Given the description of an element on the screen output the (x, y) to click on. 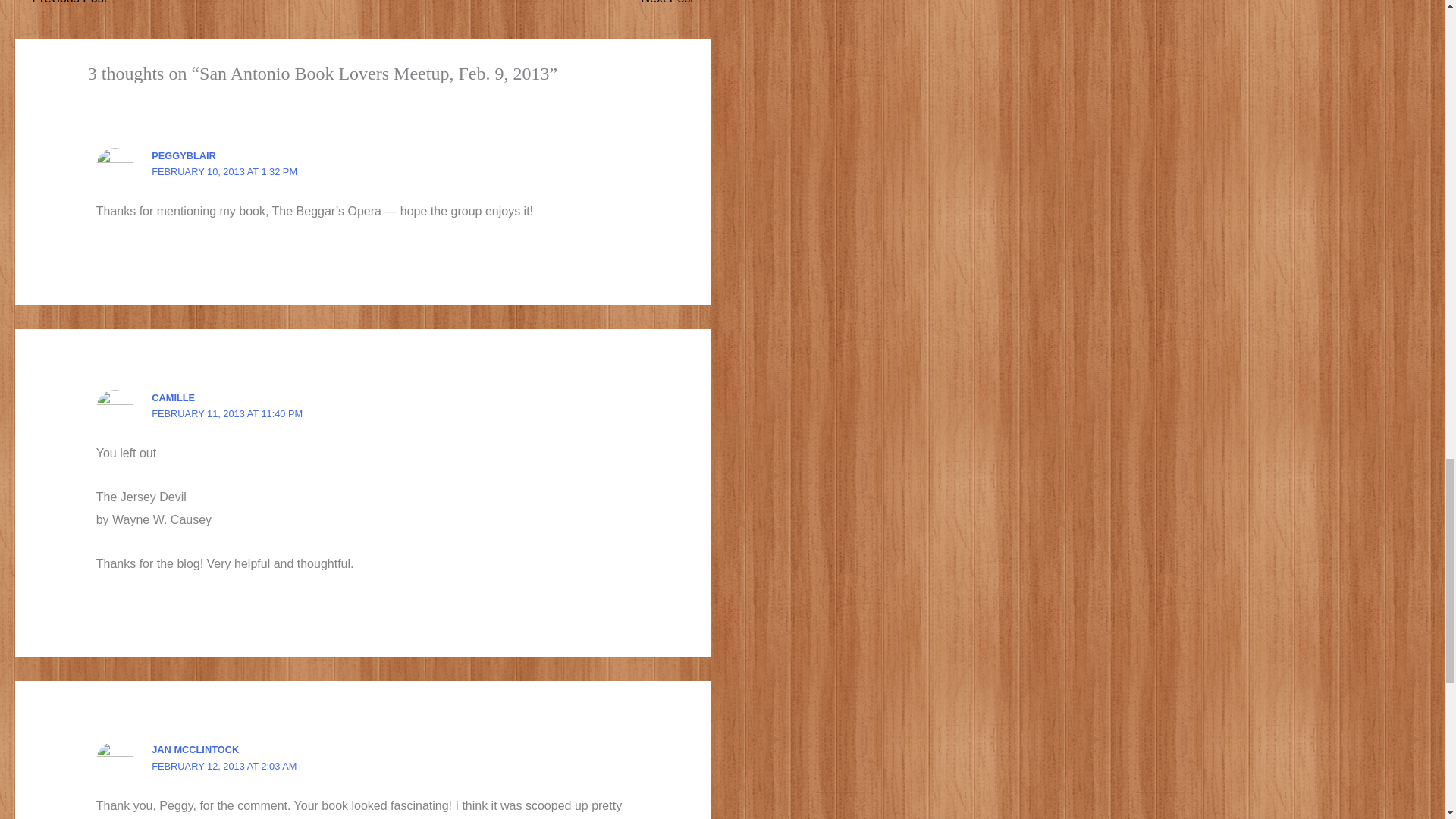
Ebooks: Quality and Price (674, 6)
